Given the description of an element on the screen output the (x, y) to click on. 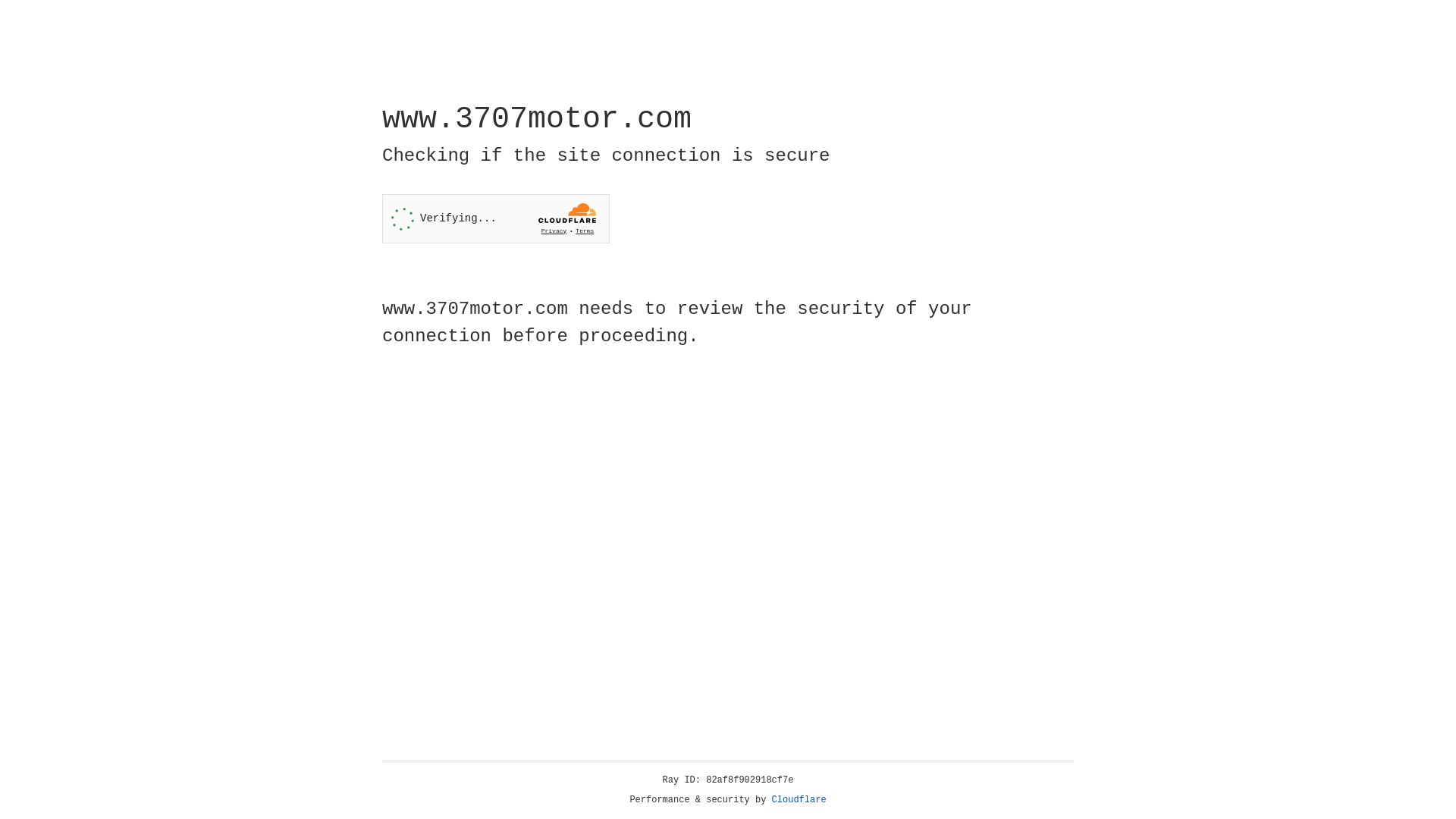
Cloudflare Element type: text (798, 799)
Widget containing a Cloudflare security challenge Element type: hover (495, 218)
